Given the description of an element on the screen output the (x, y) to click on. 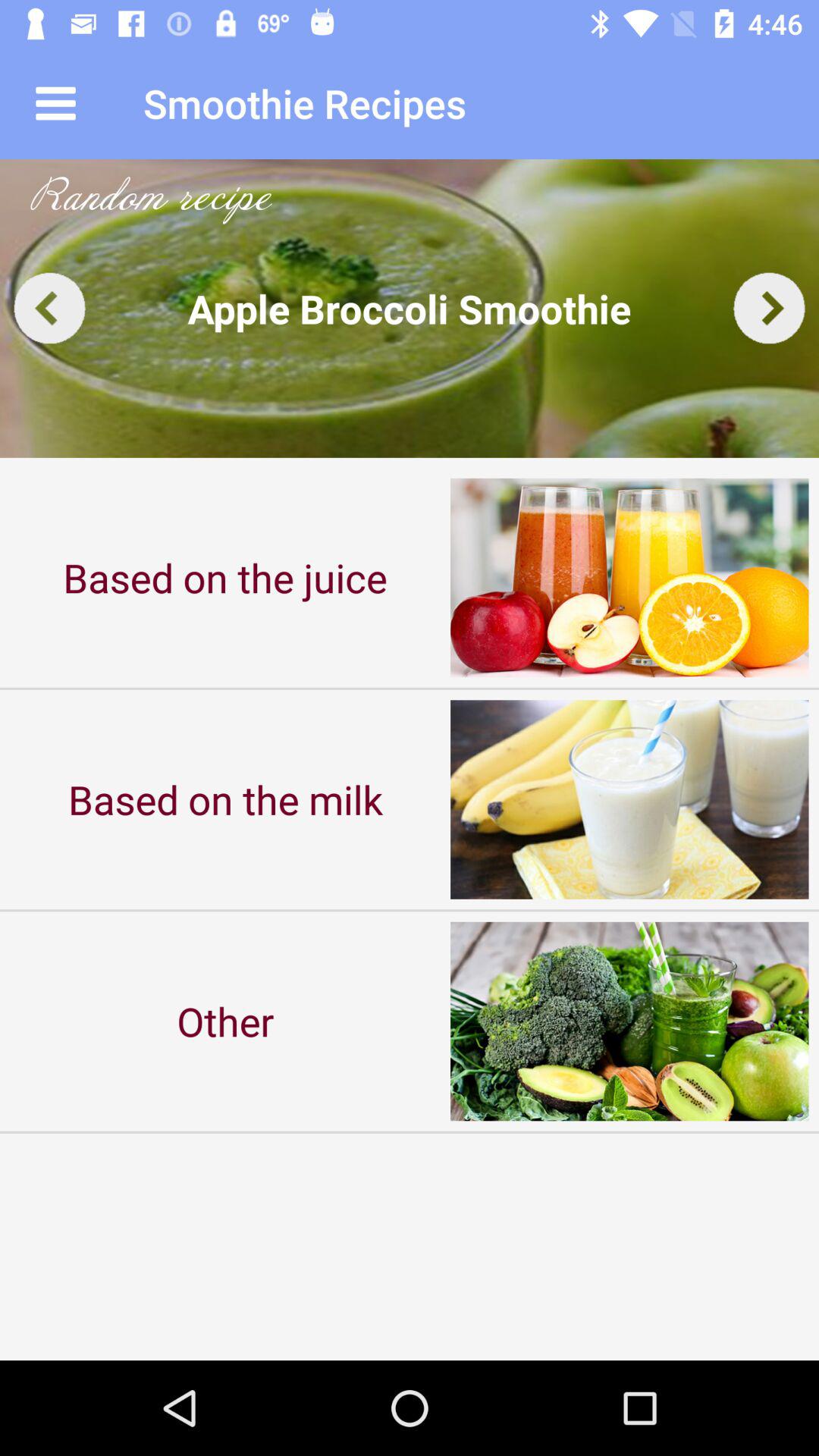
go to next recipe (769, 308)
